Given the description of an element on the screen output the (x, y) to click on. 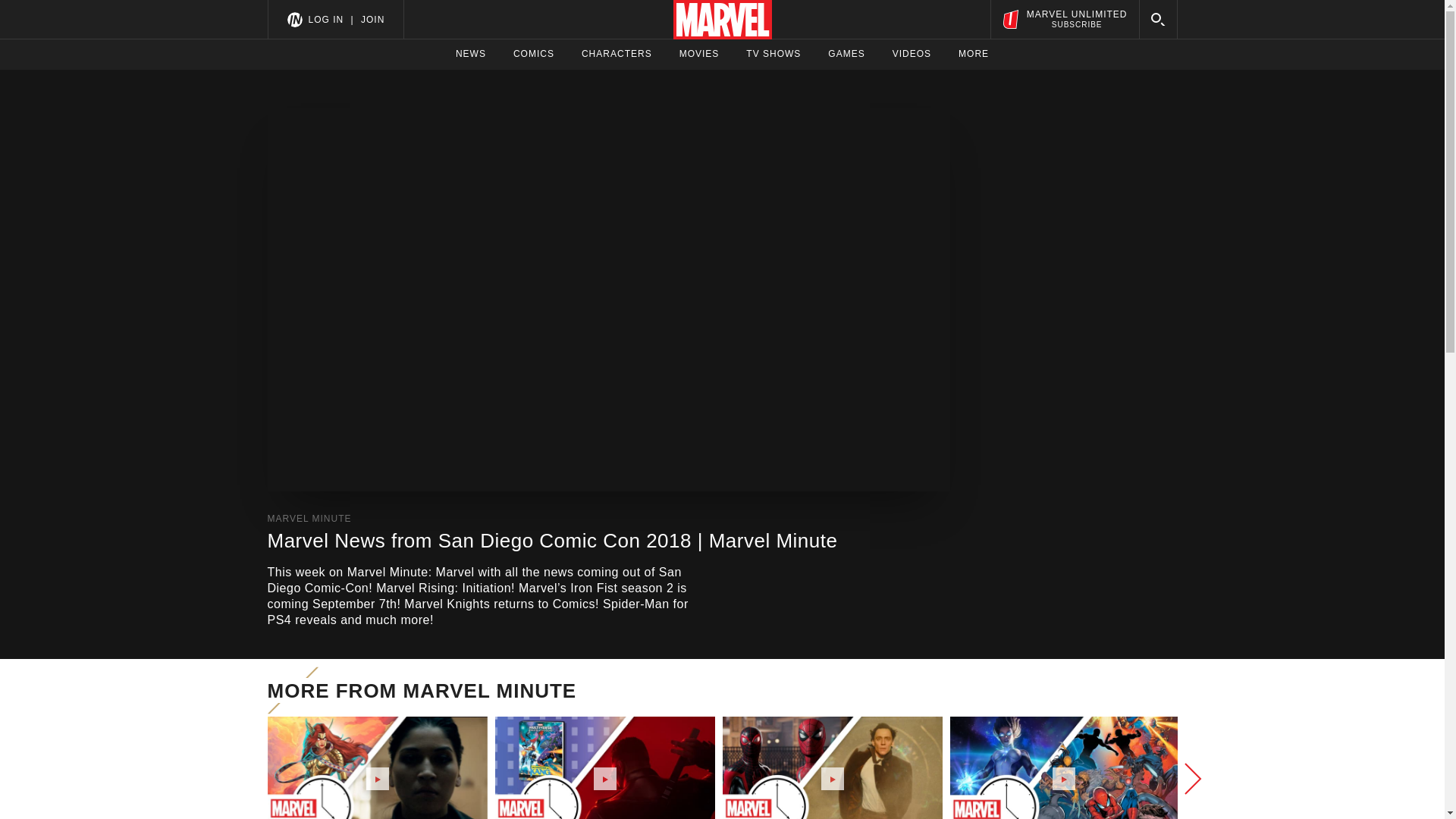
MOVIES (699, 54)
LOG IN (325, 18)
CHARACTERS (616, 54)
JOIN (372, 18)
1:35 (1062, 767)
1:47 (832, 767)
1:57 (376, 767)
MORE (1064, 19)
1:53 (973, 54)
